Given the description of an element on the screen output the (x, y) to click on. 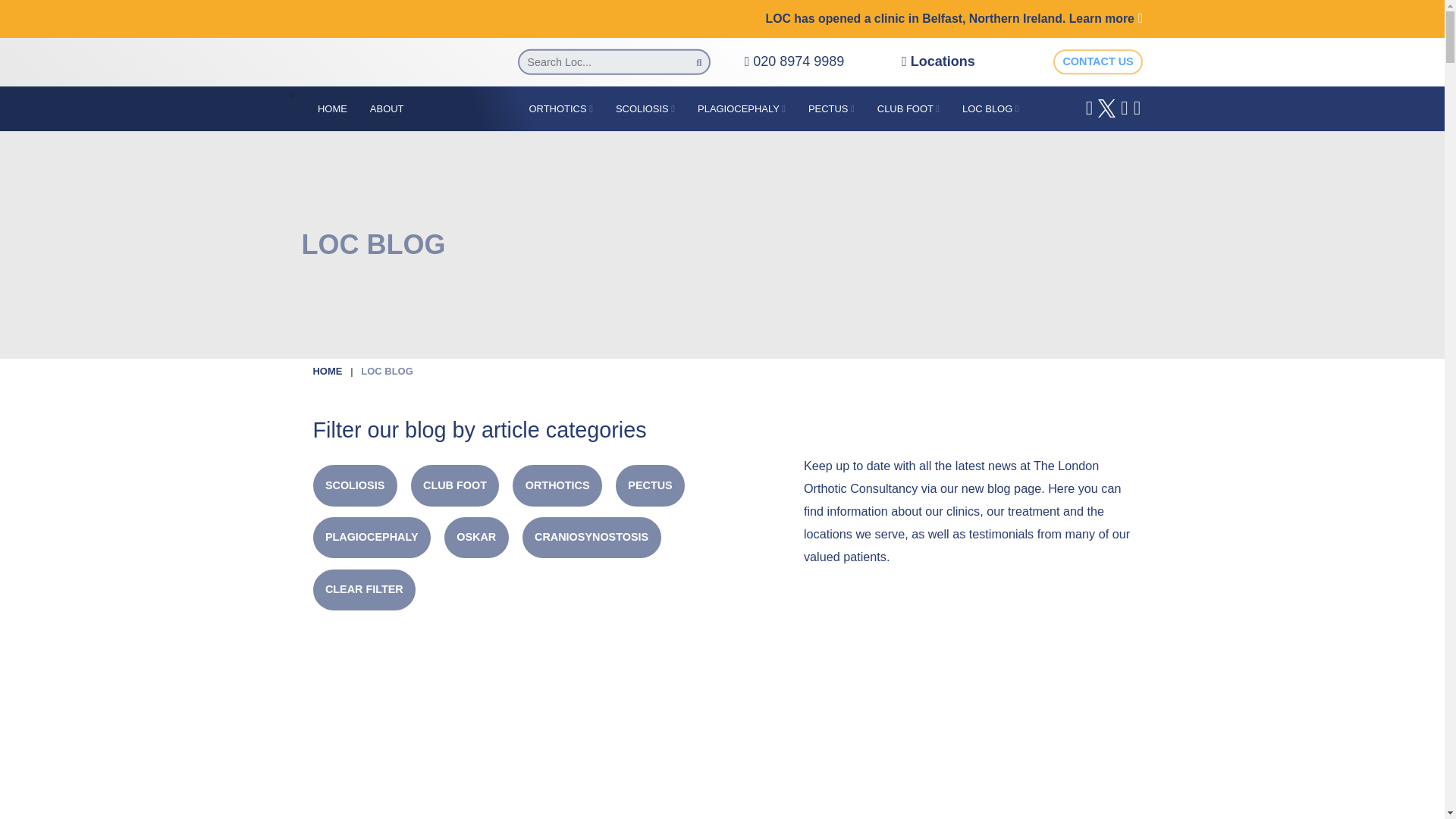
Locations (938, 61)
twitter (1106, 108)
020 8974 9989 (794, 61)
CONTACT US (1097, 62)
